Given the description of an element on the screen output the (x, y) to click on. 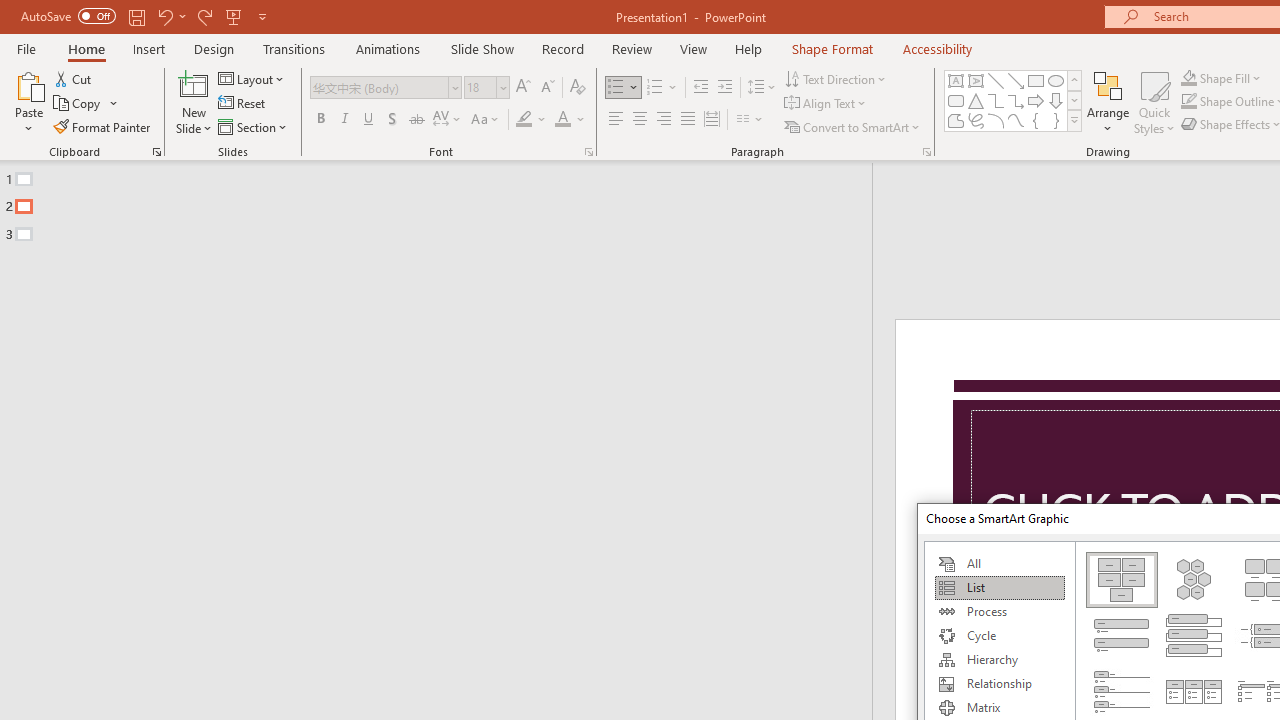
Shape Fill Orange, Accent 2 (1188, 78)
Text Box (955, 80)
Font Size (486, 87)
Arrow: Right (1035, 100)
Decrease Indent (700, 87)
Line Spacing (762, 87)
Animations (388, 48)
Right Brace (1055, 120)
More Options (1232, 78)
Line (995, 80)
Paste (28, 102)
